Given the description of an element on the screen output the (x, y) to click on. 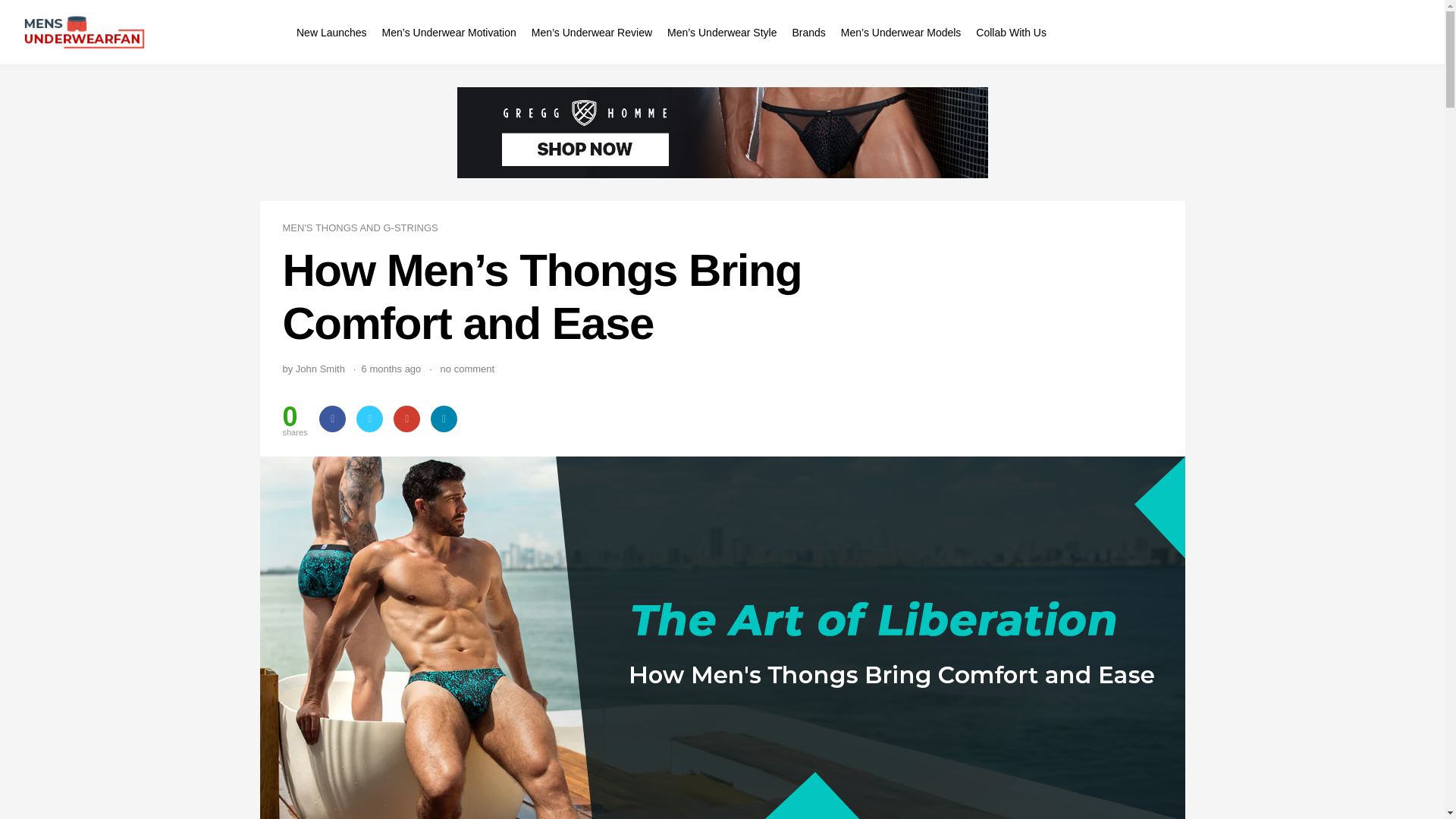
Collab With Us (1010, 31)
MEN'S THONGS AND G-STRINGS (360, 227)
New Launches (331, 31)
no comment (468, 368)
